Given the description of an element on the screen output the (x, y) to click on. 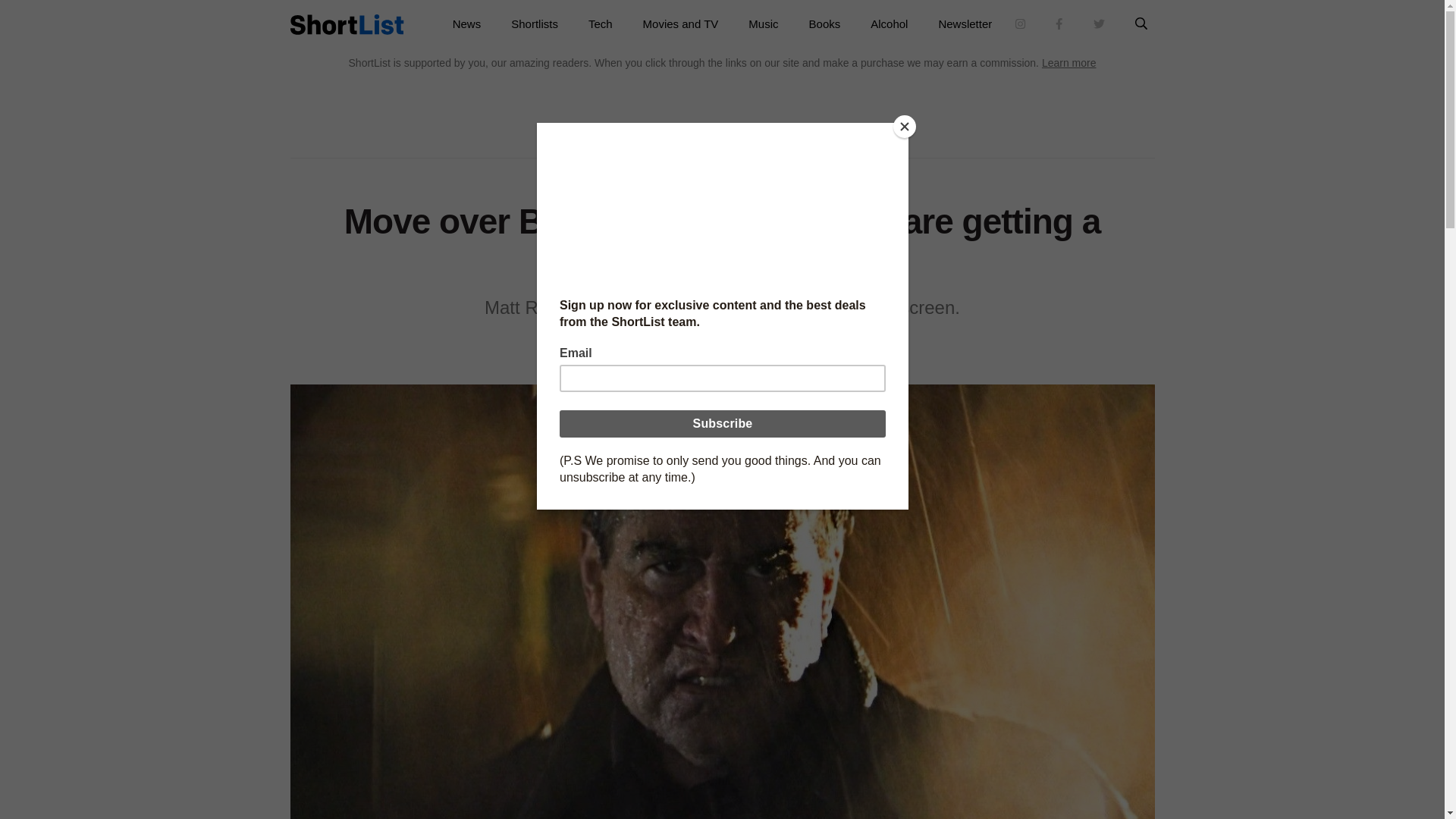
Visit :sitename on Twitter (1098, 24)
TELEVISION (739, 175)
Facebook (701, 348)
Tech (600, 23)
Newsletter (965, 23)
Music (763, 23)
HOME (691, 175)
Alcohol (889, 23)
Visit :sitename on Faceboook (1059, 24)
News (467, 23)
Twitter (742, 348)
Visit :sitename on Instagram (1020, 24)
Movies and TV (680, 23)
Learn more (1069, 62)
Books (824, 23)
